Given the description of an element on the screen output the (x, y) to click on. 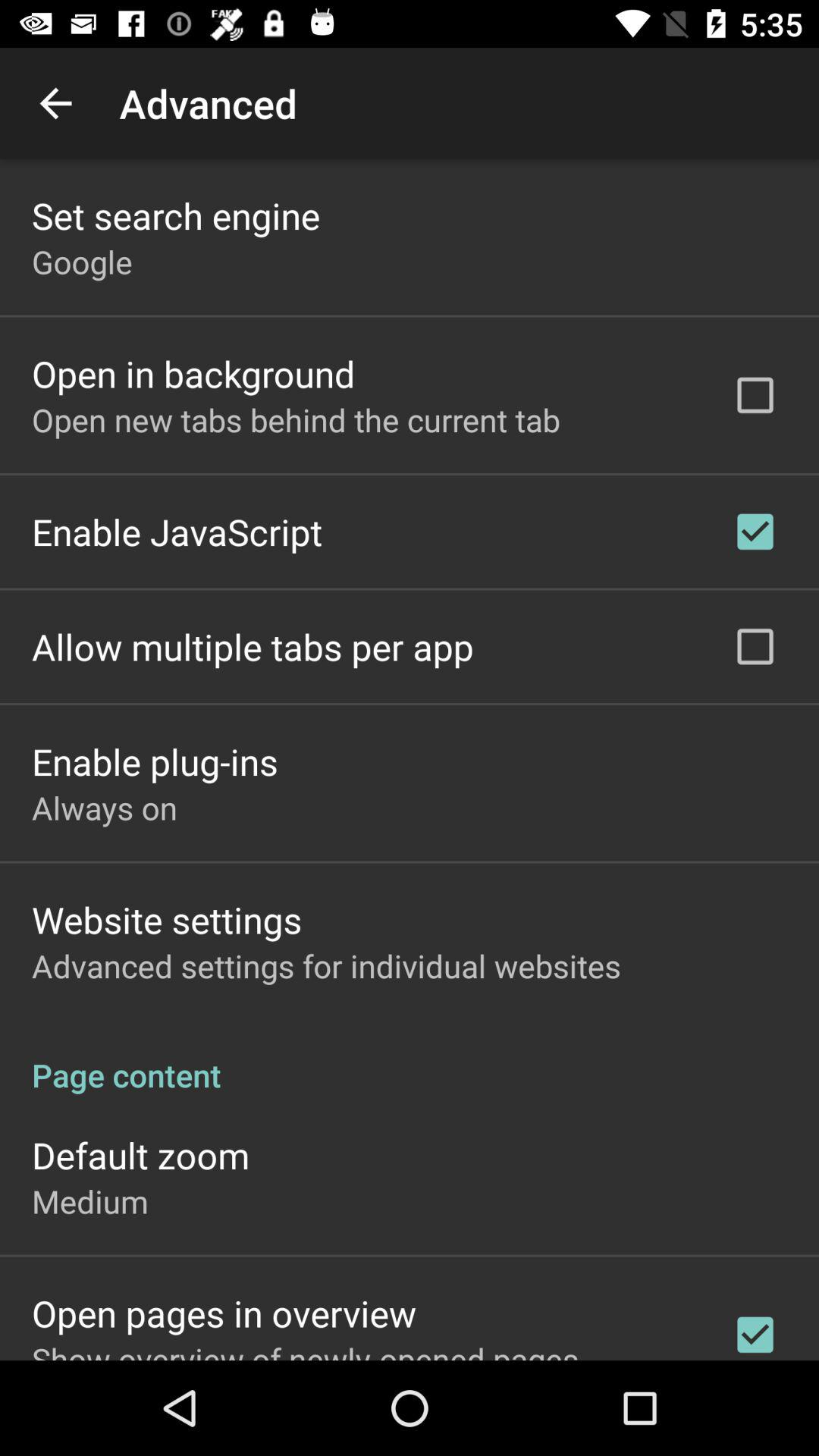
turn on the icon next to the advanced app (55, 103)
